Given the description of an element on the screen output the (x, y) to click on. 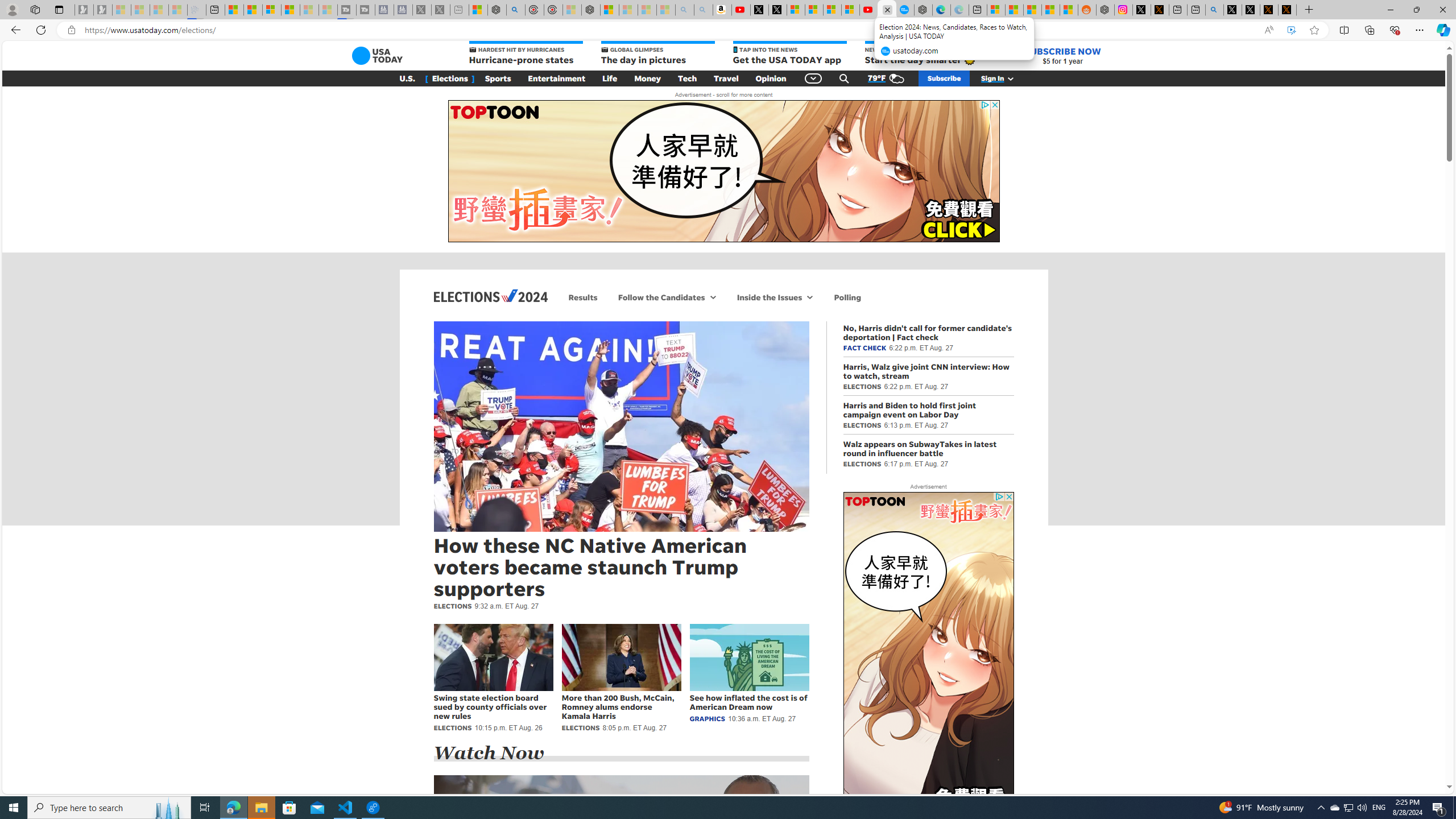
Opinion (770, 78)
help.x.com | 524: A timeout occurred (1159, 9)
Newsletter Sign Up - Sleeping (102, 9)
The most popular Google 'how to' searches (904, 9)
Day 1: Arriving in Yemen (surreal to be here) - YouTube (740, 9)
Microsoft account | Microsoft Account Privacy Settings (996, 9)
